Given the description of an element on the screen output the (x, y) to click on. 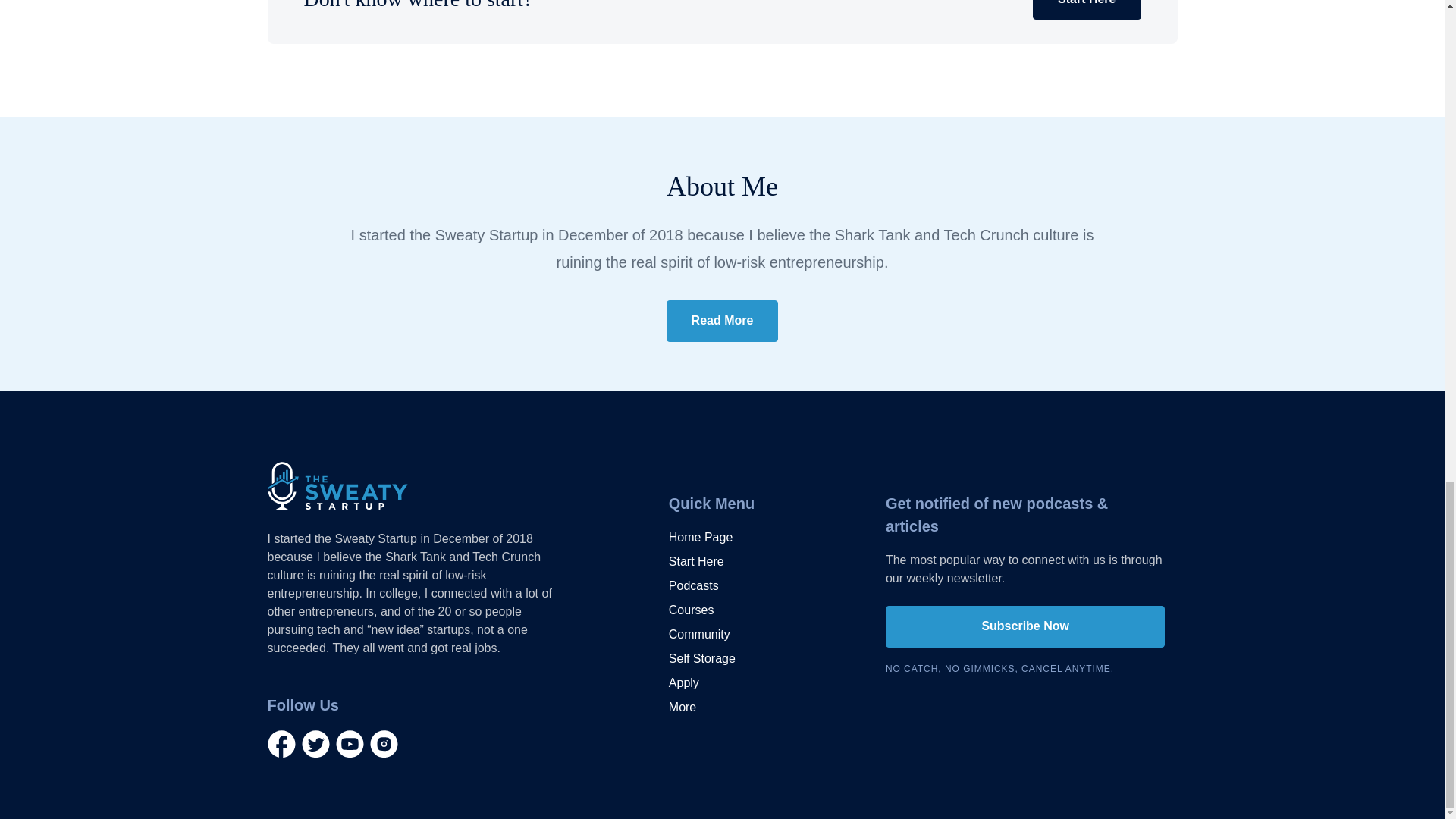
Start Here (695, 561)
Self Storage (701, 659)
Start Here (1086, 9)
Courses (691, 610)
Community (699, 634)
Podcasts (693, 586)
Read More (722, 321)
Home Page (700, 537)
